Given the description of an element on the screen output the (x, y) to click on. 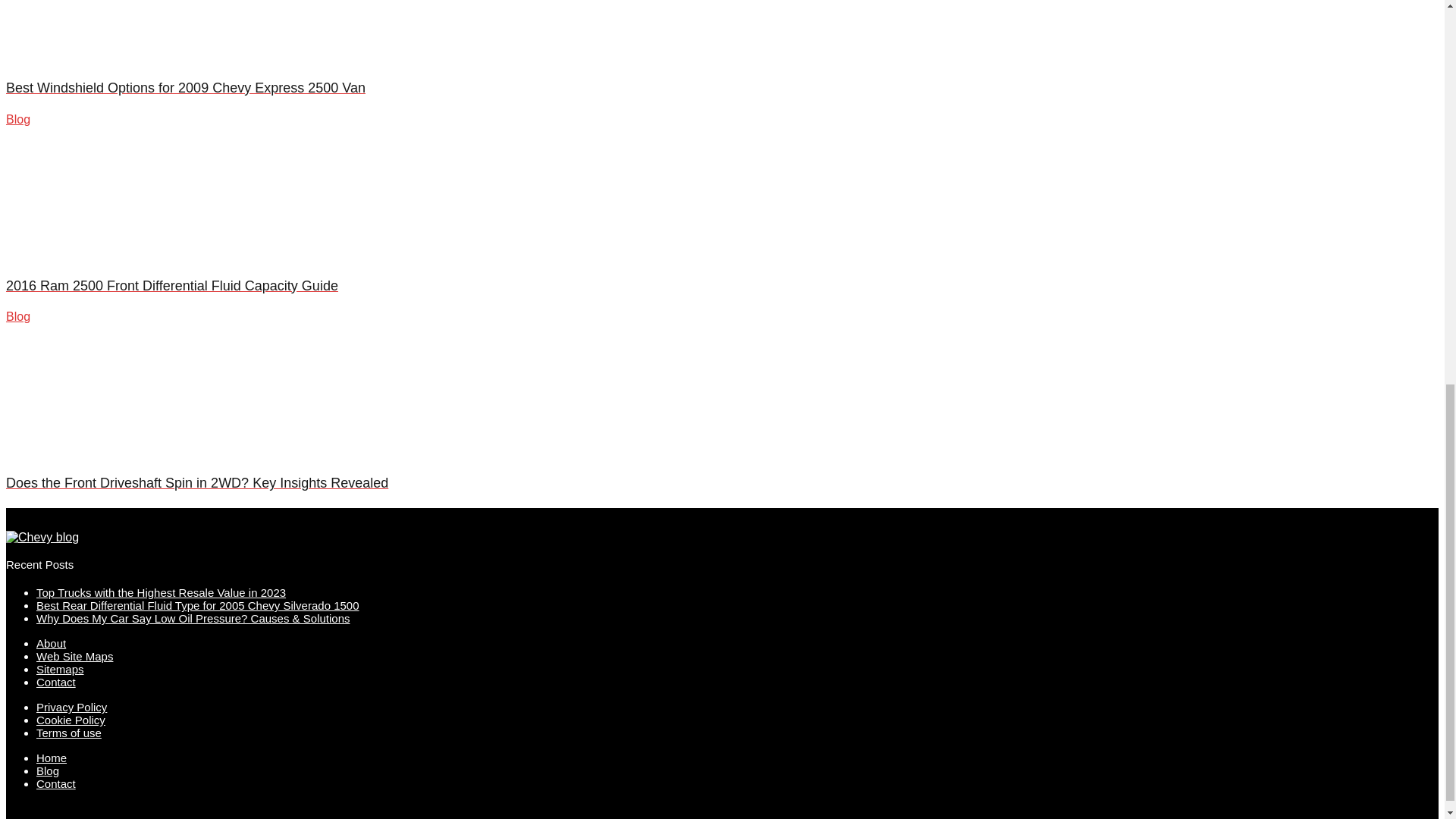
Contact (55, 783)
Terms of use (68, 732)
About (50, 643)
Privacy Policy (71, 707)
Home (51, 757)
Web Site Maps (74, 656)
Top Trucks with the Highest Resale Value in 2023 (160, 592)
Sitemaps (60, 668)
